Given the description of an element on the screen output the (x, y) to click on. 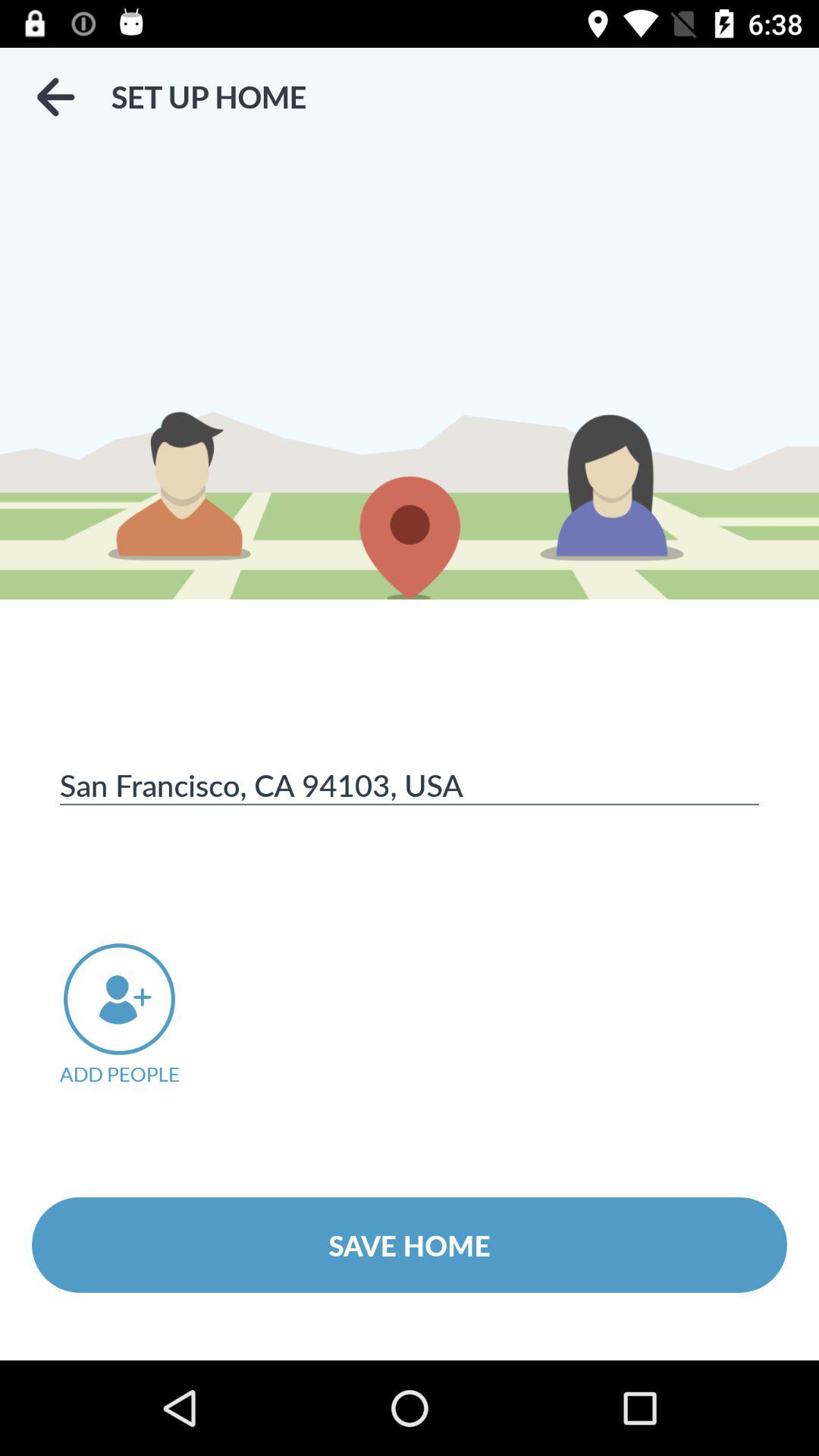
jump until the save home item (409, 1244)
